Given the description of an element on the screen output the (x, y) to click on. 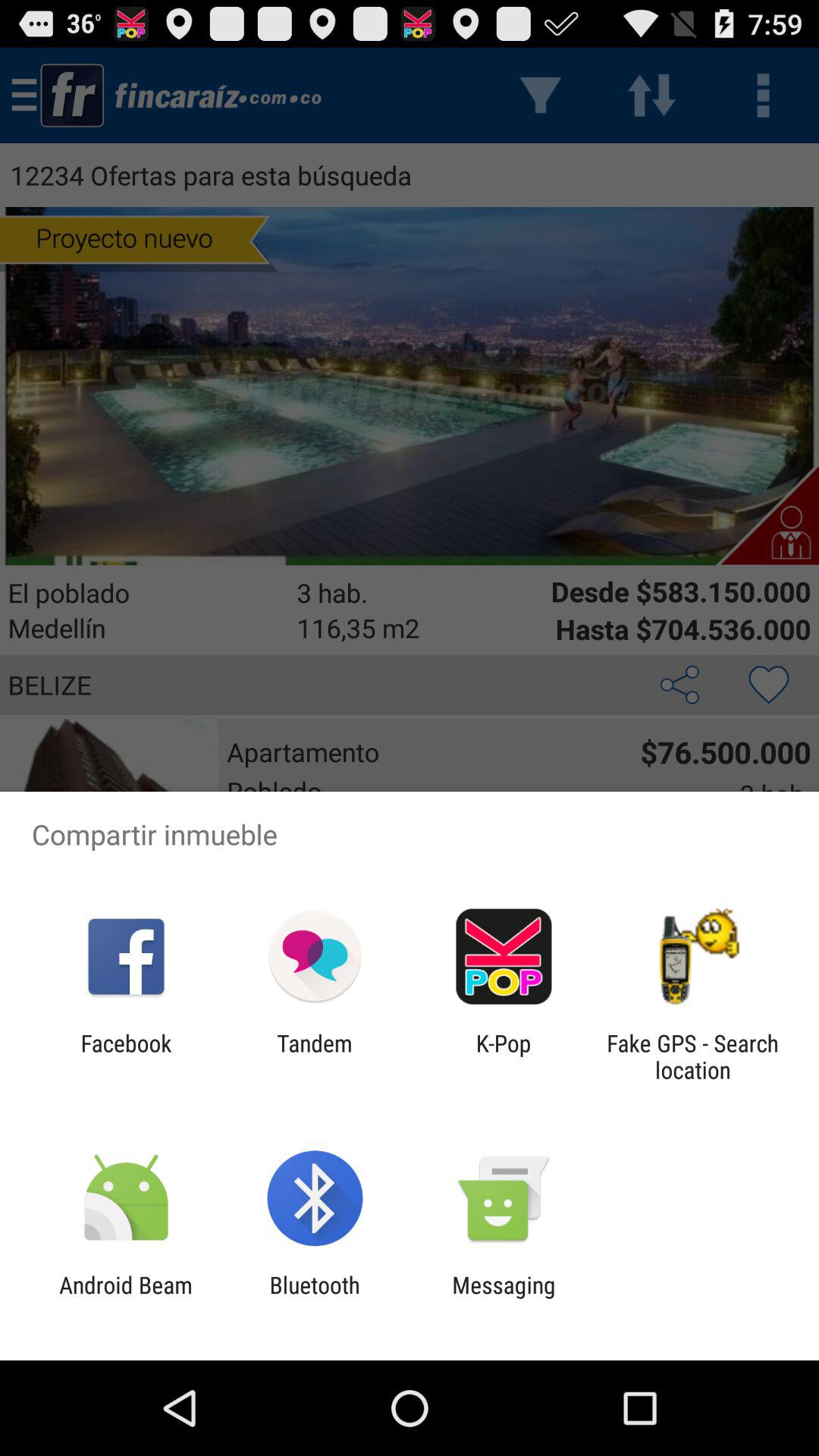
select app to the right of android beam (314, 1298)
